Given the description of an element on the screen output the (x, y) to click on. 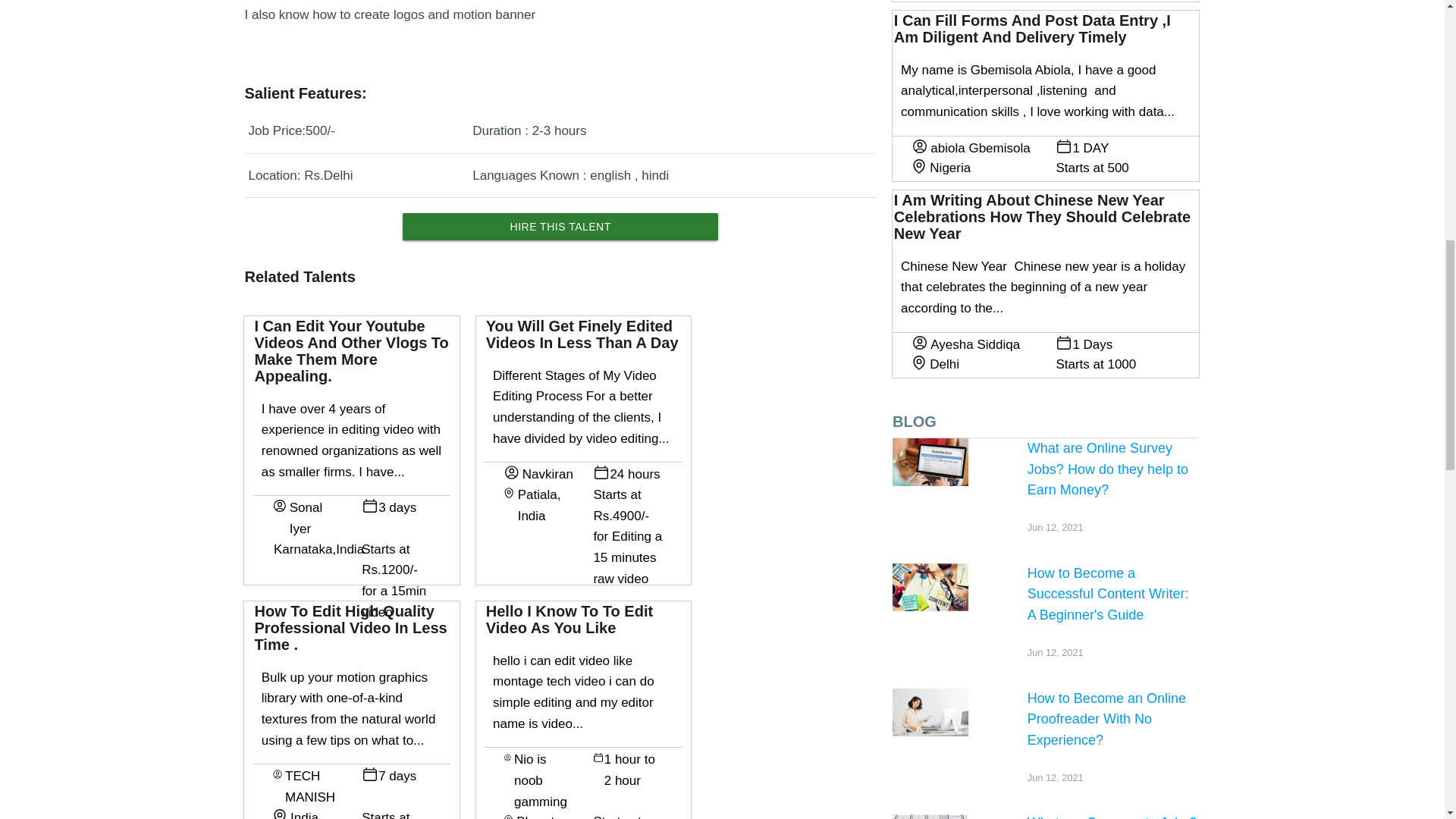
How to Become an Online Proofreader With No Experience? (930, 712)
What are Copy-paste Jobs? How to Find Them? (930, 816)
What are Online Survey Jobs? How do they help to Earn Money? (930, 462)
